Given the description of an element on the screen output the (x, y) to click on. 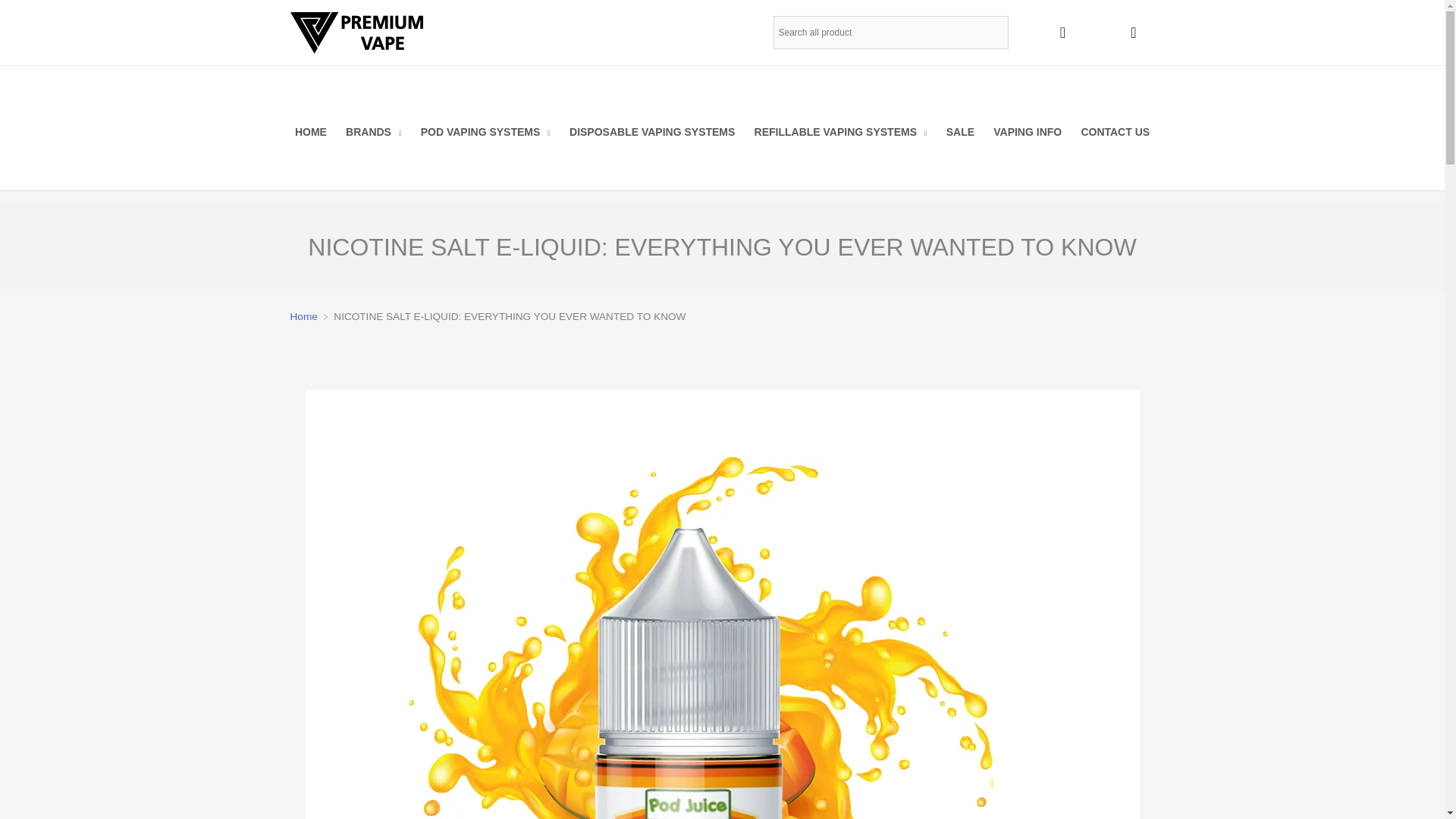
REFILLABLE VAPING SYSTEMS (840, 132)
Cart (1133, 32)
DISPOSABLE VAPING SYSTEMS (651, 132)
BRANDS (373, 132)
HOME (310, 132)
POD VAPING SYSTEMS (484, 132)
